Given the description of an element on the screen output the (x, y) to click on. 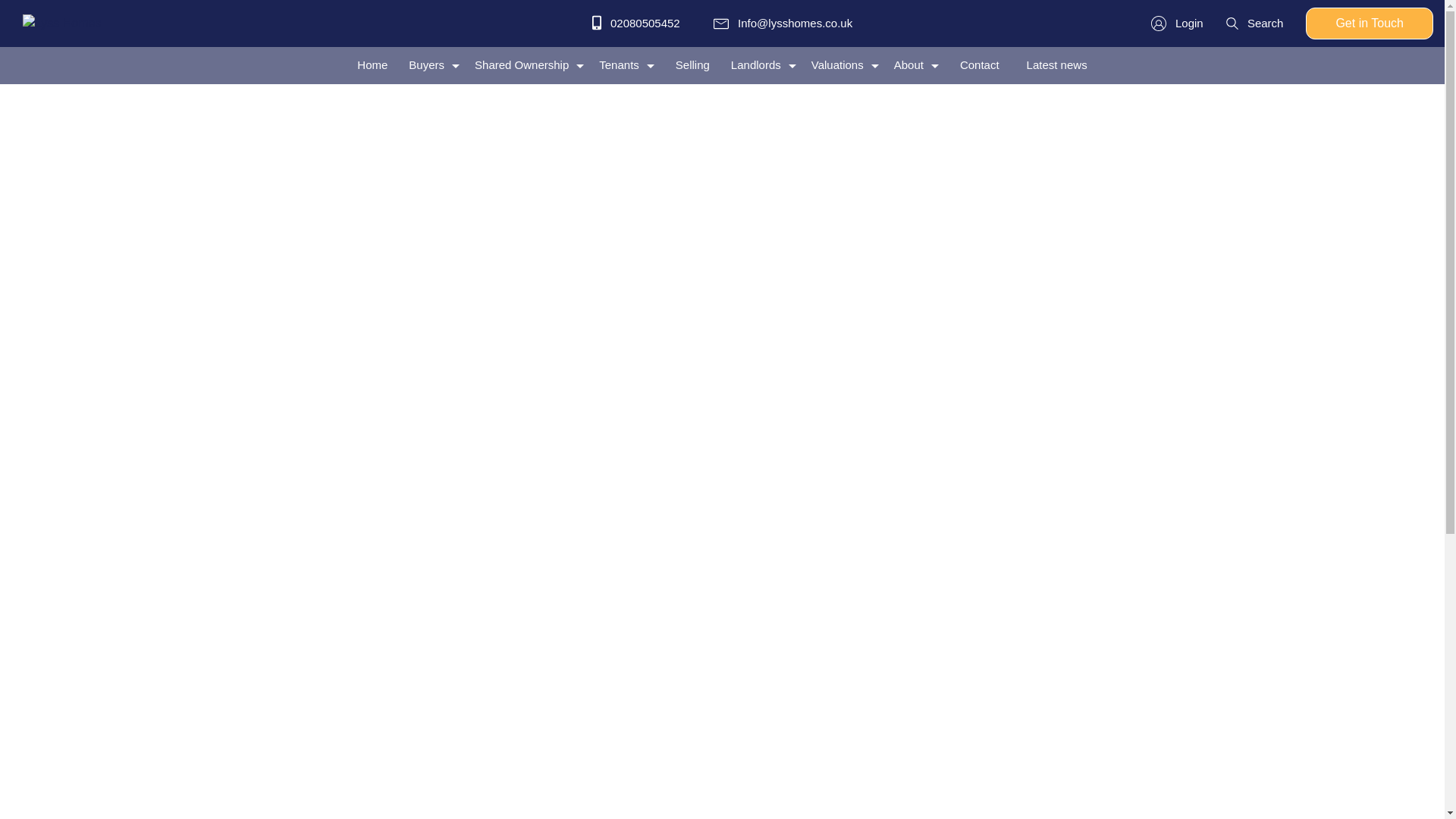
Contact (979, 65)
Selling (692, 65)
Home (371, 65)
02080505452 (635, 22)
Get in Touch (1369, 23)
Search (1254, 22)
Latest news (1056, 65)
Login (1177, 22)
